Given the description of an element on the screen output the (x, y) to click on. 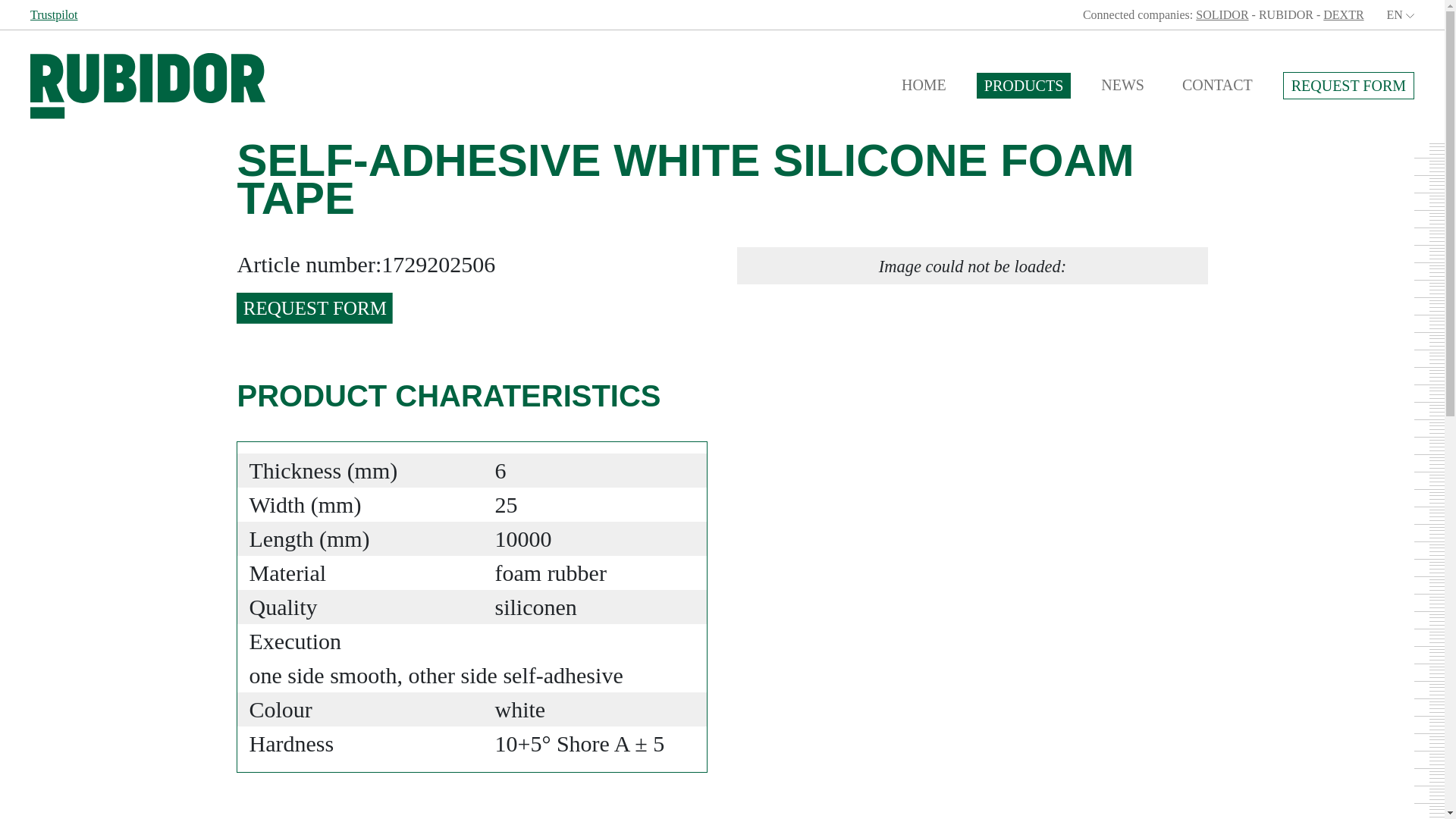
DEXTR (1342, 13)
REQUEST FORM (314, 307)
CONTACT (1217, 85)
HOME (923, 85)
PRODUCTS (1023, 85)
Trustpilot (54, 13)
SOLIDOR (1221, 13)
REQUEST FORM (1347, 85)
NEWS (1122, 85)
